Given the description of an element on the screen output the (x, y) to click on. 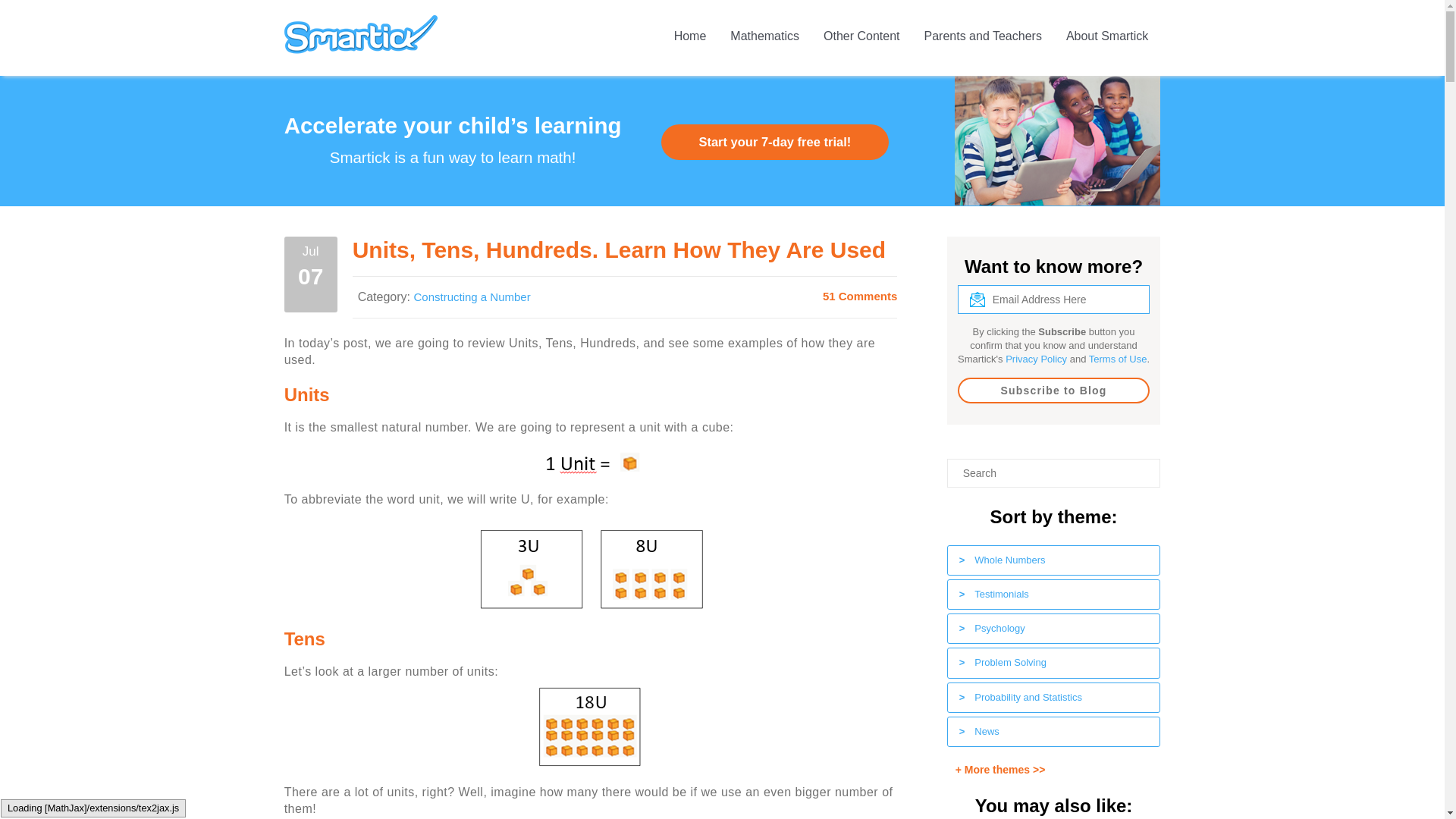
Parents and Teachers (983, 38)
Other Content (861, 38)
Subscribe to Blog (1054, 390)
51 Comments (859, 295)
Mathematics (763, 38)
Constructing a Number (471, 296)
Start your 7-day free trial! (774, 141)
About Smartick (1107, 38)
